Given the description of an element on the screen output the (x, y) to click on. 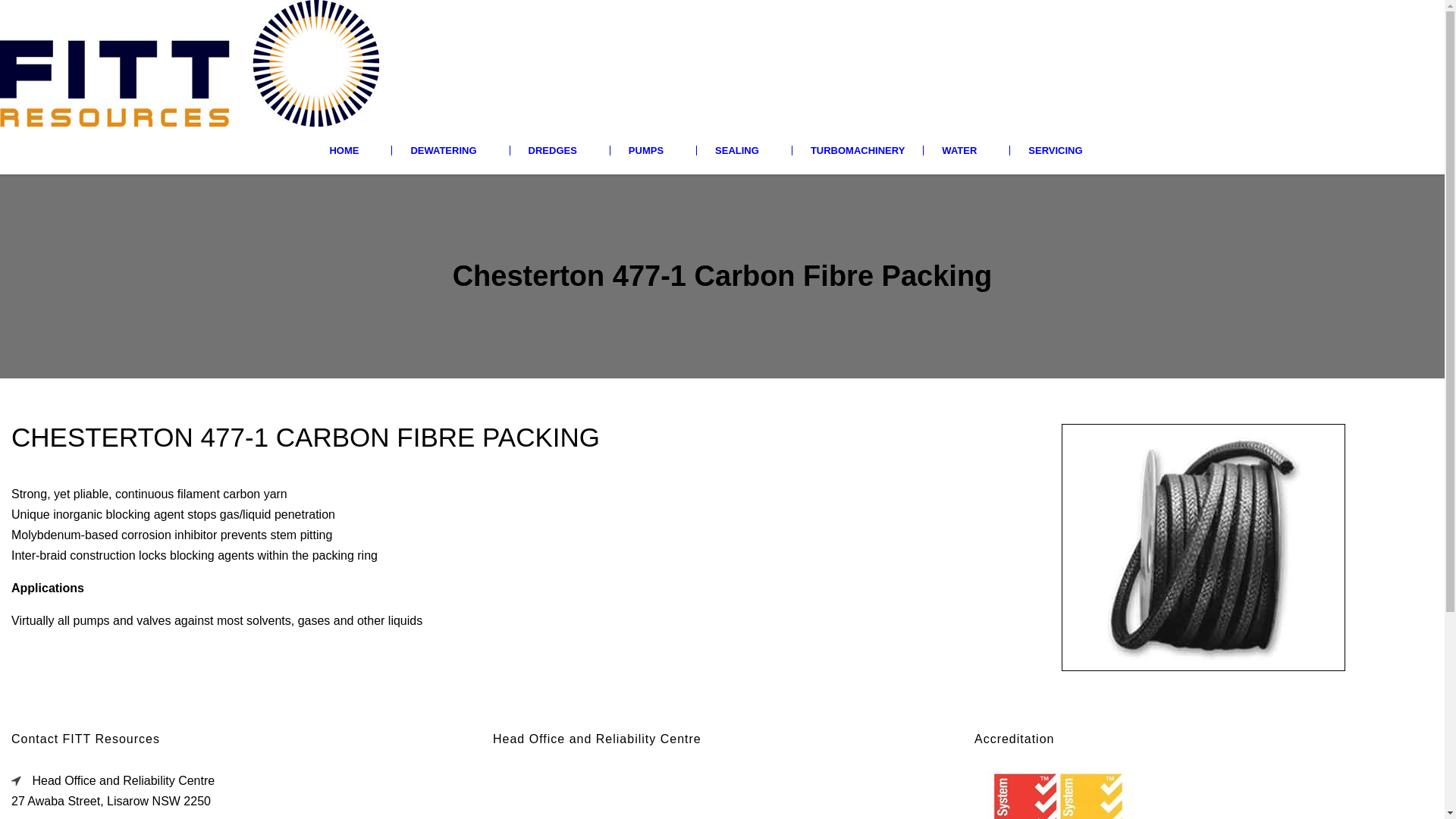
HOME Element type: text (360, 150)
WATER Element type: text (965, 150)
SEALING Element type: text (743, 150)
PUMPS Element type: text (652, 150)
SERVICING Element type: text (1061, 150)
TURBOMACHINERY Element type: text (856, 150)
DREDGES Element type: text (559, 150)
DEWATERING Element type: text (449, 150)
